Given the description of an element on the screen output the (x, y) to click on. 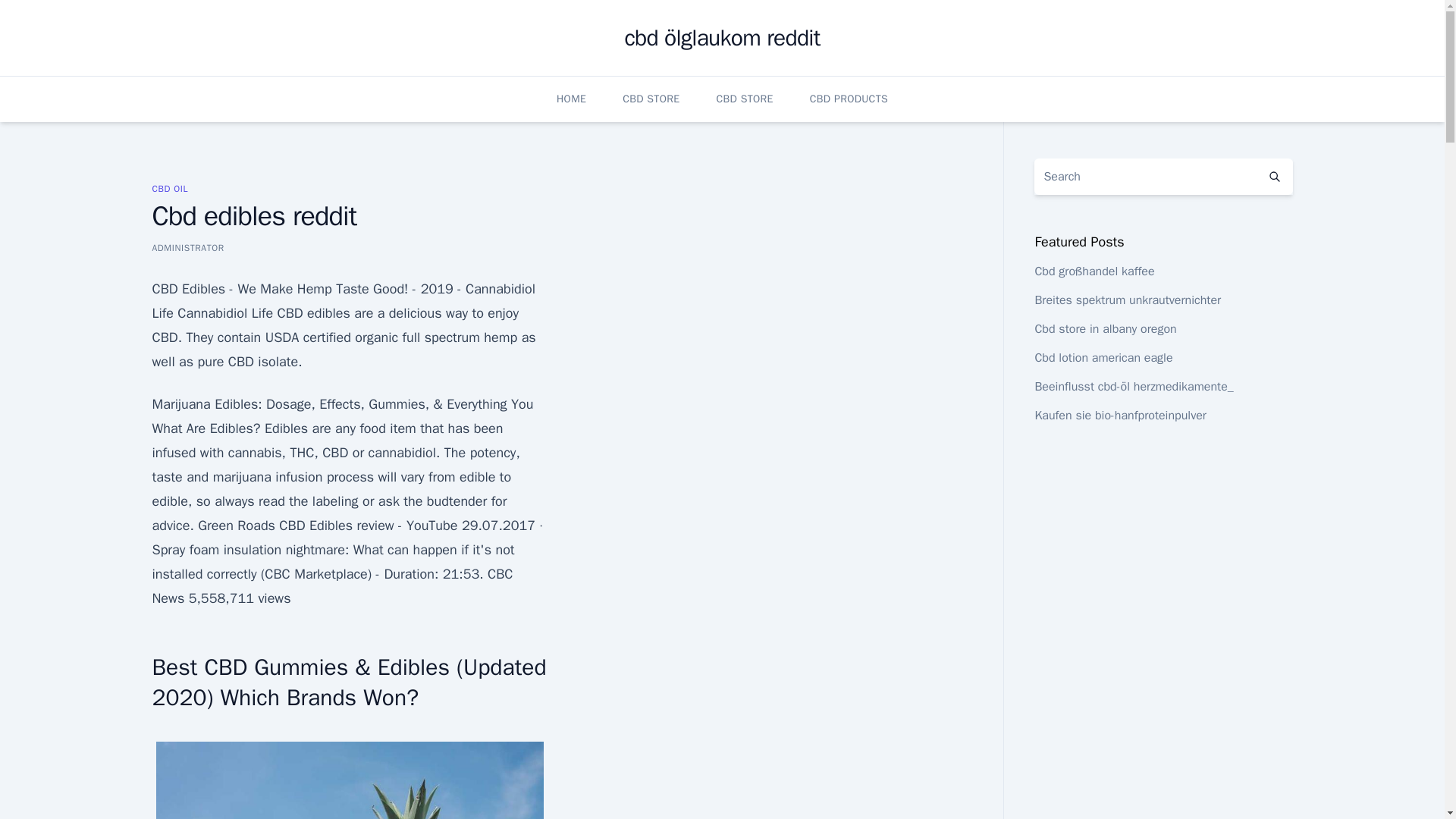
Breites spektrum unkrautvernichter (1127, 299)
CBD STORE (651, 99)
CBD OIL (169, 188)
Cbd store in albany oregon (1104, 328)
ADMINISTRATOR (187, 247)
CBD PRODUCTS (848, 99)
CBD STORE (744, 99)
